Given the description of an element on the screen output the (x, y) to click on. 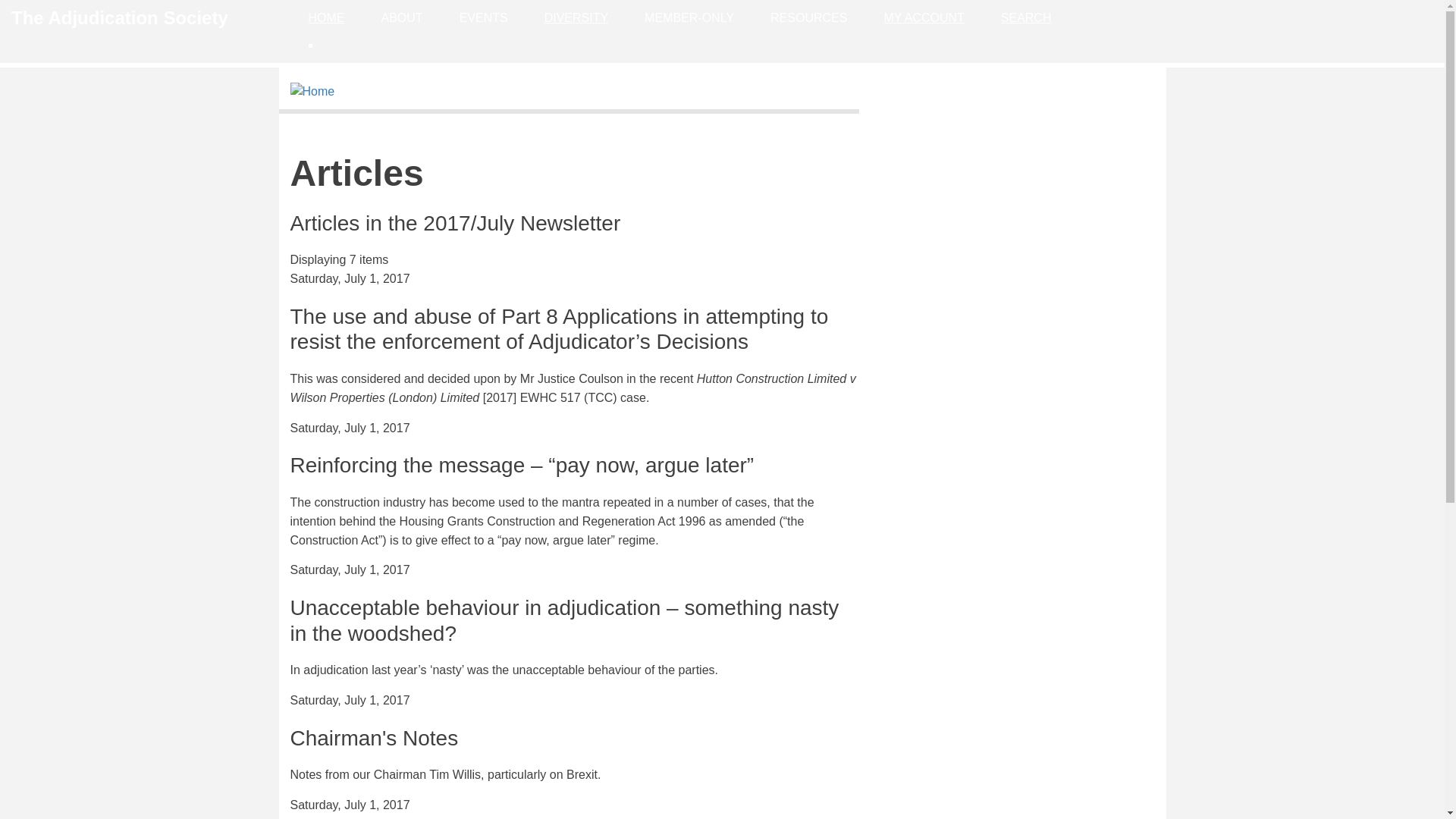
Home (311, 91)
DIVERSITY (575, 18)
Home (119, 17)
HOME (325, 18)
The Adjudication Society (119, 17)
